Given the description of an element on the screen output the (x, y) to click on. 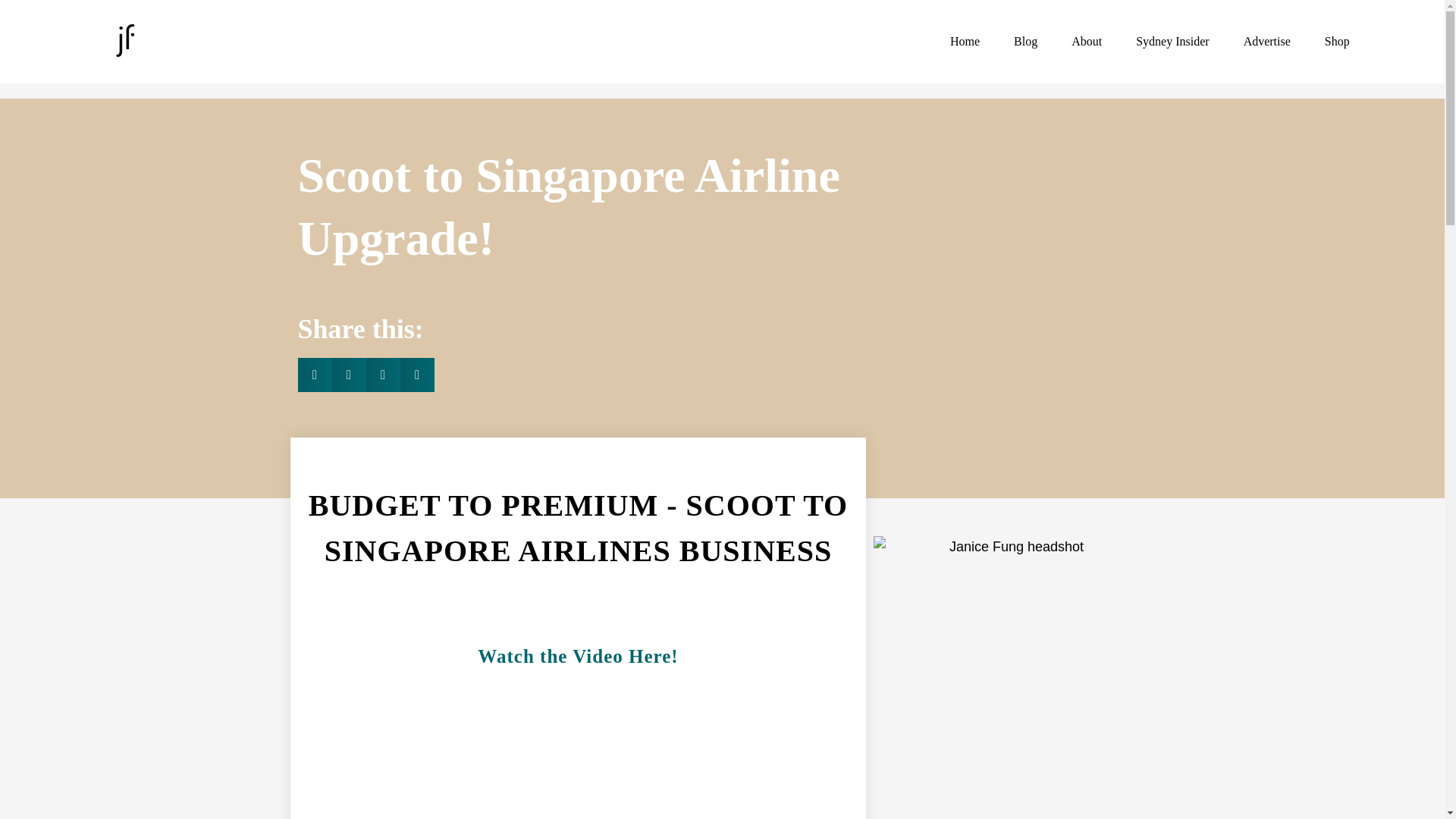
Home (964, 41)
About (1086, 41)
Shop (1336, 41)
Blog (1025, 41)
Advertise (1267, 41)
Sydney Insider (1172, 41)
